Given the description of an element on the screen output the (x, y) to click on. 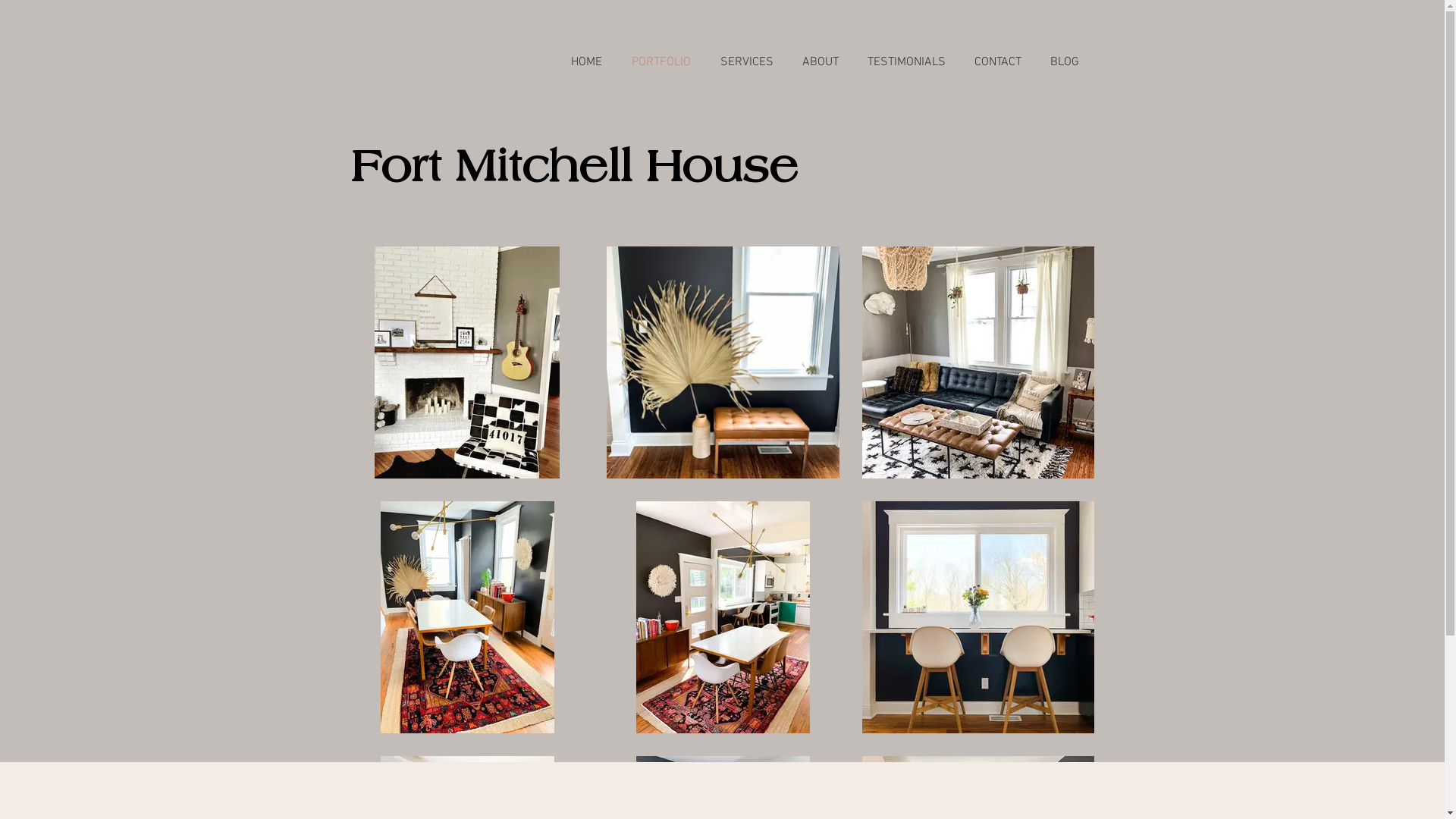
HOME Element type: text (586, 62)
TESTIMONIALS Element type: text (905, 62)
CONTACT Element type: text (997, 62)
BLOG Element type: text (1064, 62)
SERVICES Element type: text (746, 62)
PORTFOLIO Element type: text (661, 62)
ABOUT Element type: text (819, 62)
